Given the description of an element on the screen output the (x, y) to click on. 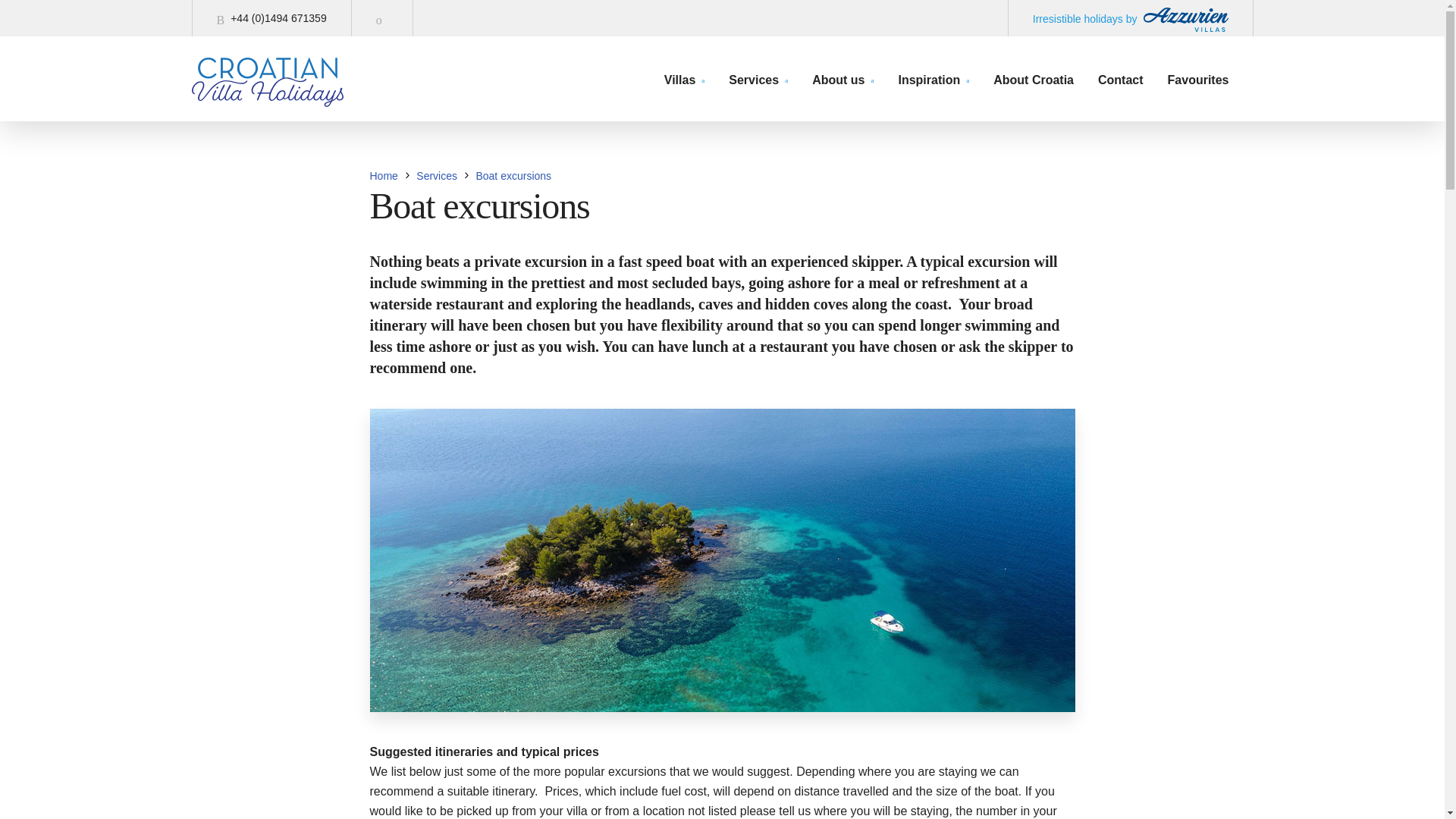
About us (842, 79)
Services (436, 175)
About Croatia (1033, 79)
Inspiration (933, 79)
Boat excursions (513, 175)
Services (758, 79)
Villas (683, 79)
Contact (1119, 79)
Irresistible holidays by (1130, 18)
Favourites (1197, 79)
Home (383, 175)
